Given the description of an element on the screen output the (x, y) to click on. 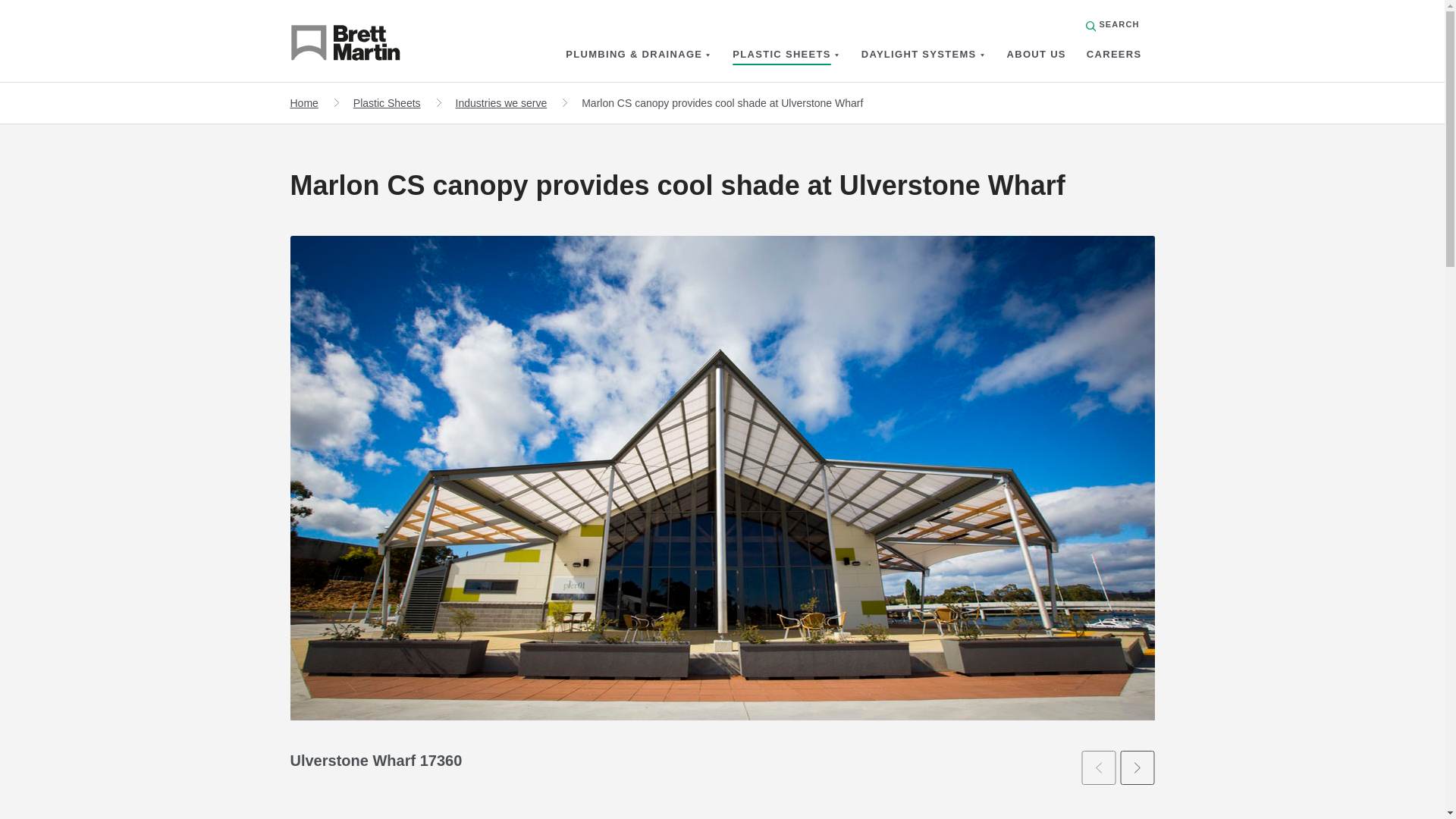
PLASTIC SHEETS (780, 54)
SEARCH (1112, 24)
Brett Martin Logo (365, 45)
